Given the description of an element on the screen output the (x, y) to click on. 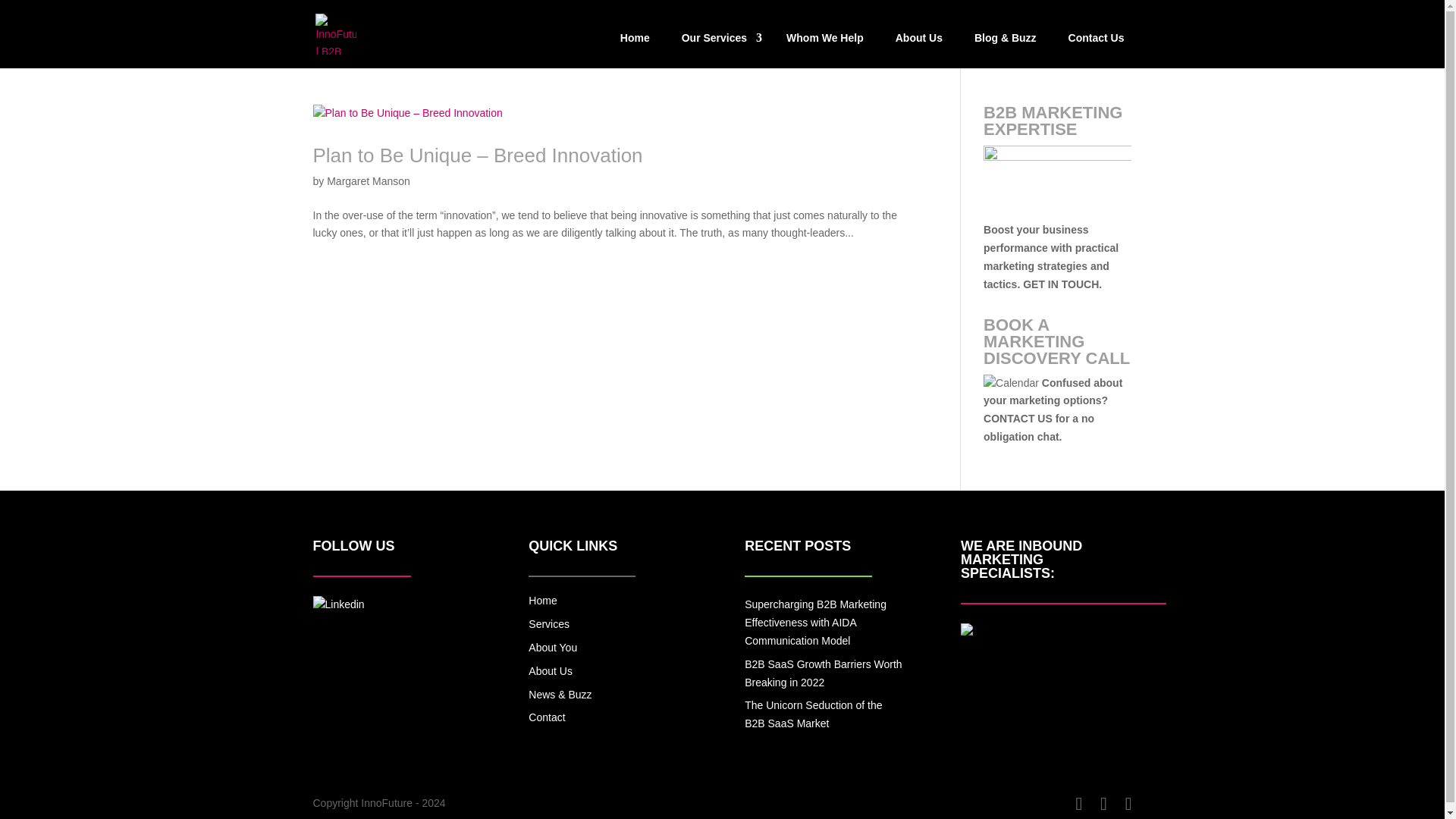
Inbound (966, 631)
Margaret Manson (368, 181)
B2B SaaS Growth Barriers Worth Breaking in 2022 (822, 673)
Contact (546, 717)
Whom We Help (824, 46)
Home (542, 600)
About Us (550, 671)
Our Services (717, 46)
About Us (919, 46)
